Given the description of an element on the screen output the (x, y) to click on. 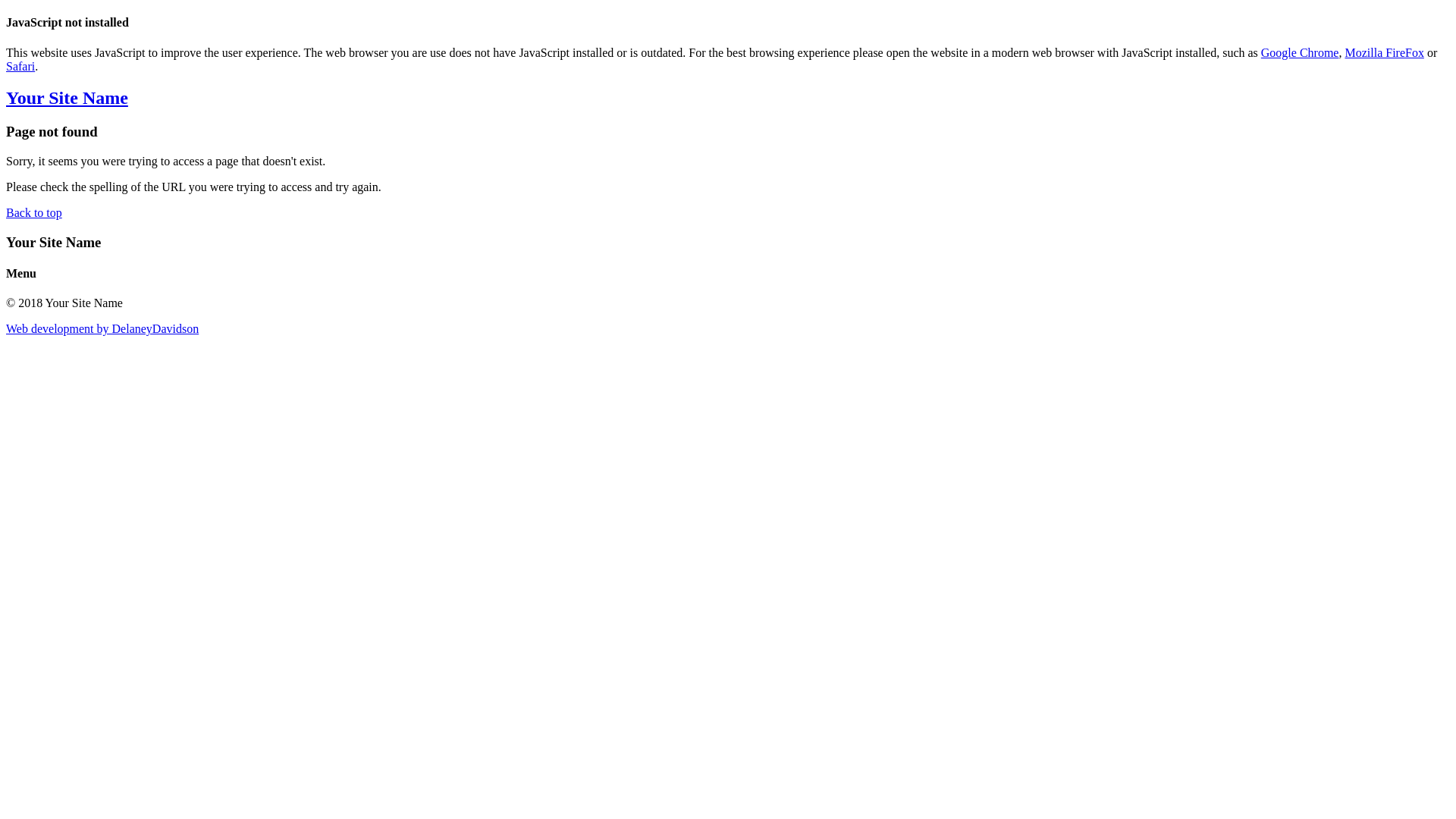
Your Site Name Element type: text (727, 97)
Back to top Element type: text (34, 212)
Safari Element type: text (20, 65)
Mozilla FireFox Element type: text (1383, 52)
Web development by DelaneyDavidson Element type: text (102, 328)
Google Chrome Element type: text (1300, 52)
